Given the description of an element on the screen output the (x, y) to click on. 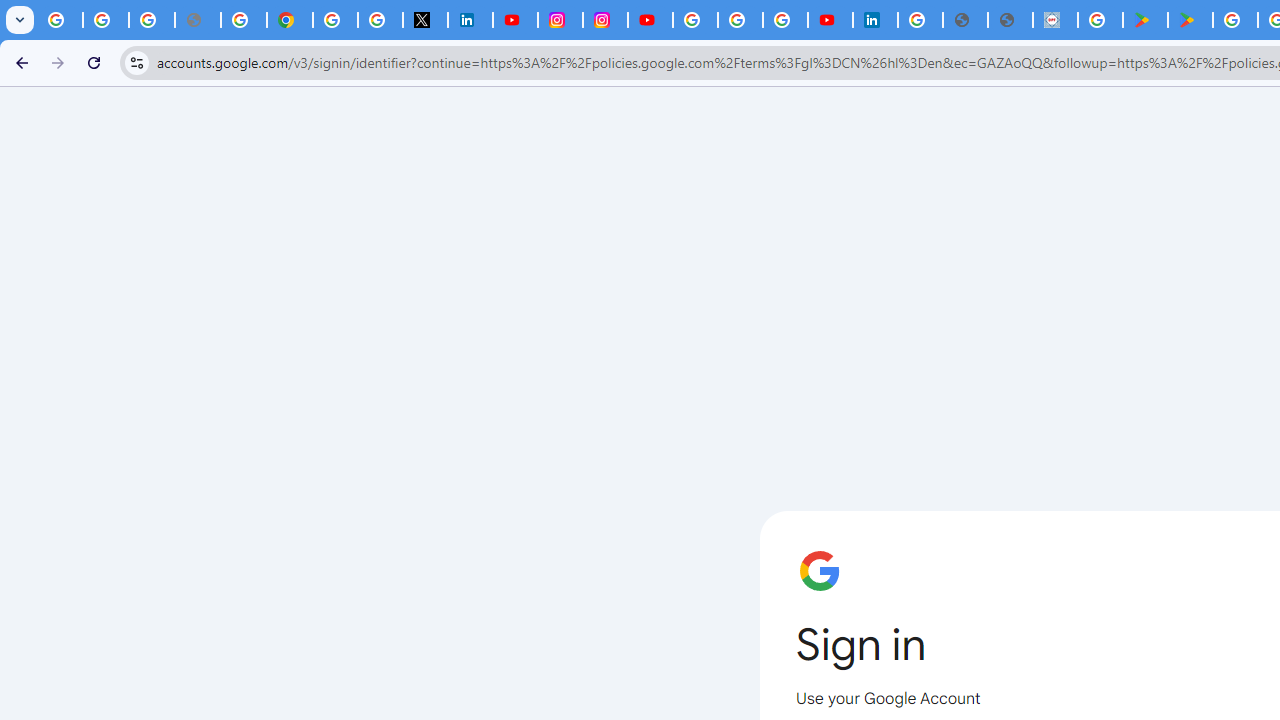
Identity verification via Persona | LinkedIn Help (875, 20)
